Given the description of an element on the screen output the (x, y) to click on. 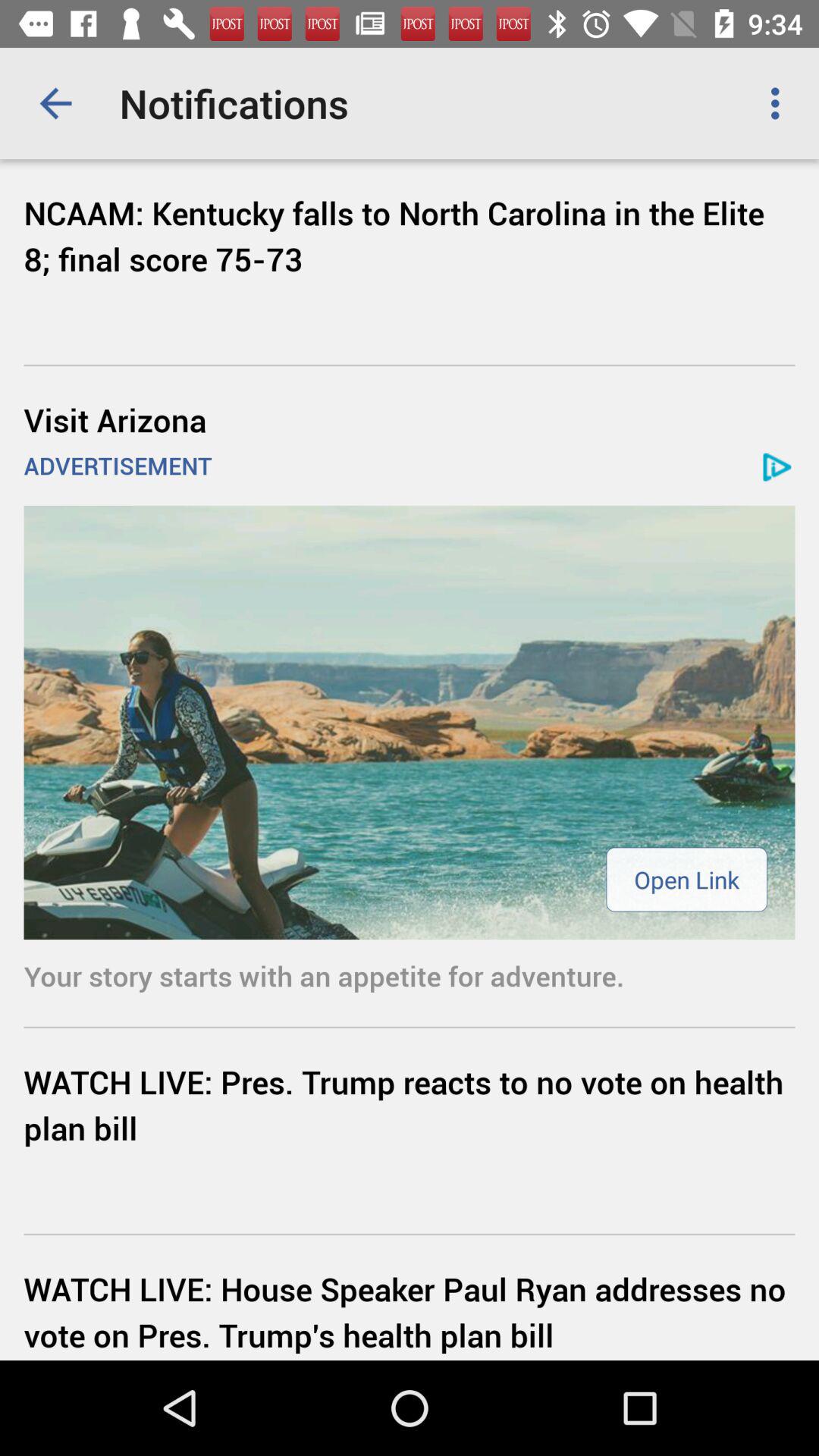
click item next to notifications (55, 103)
